Given the description of an element on the screen output the (x, y) to click on. 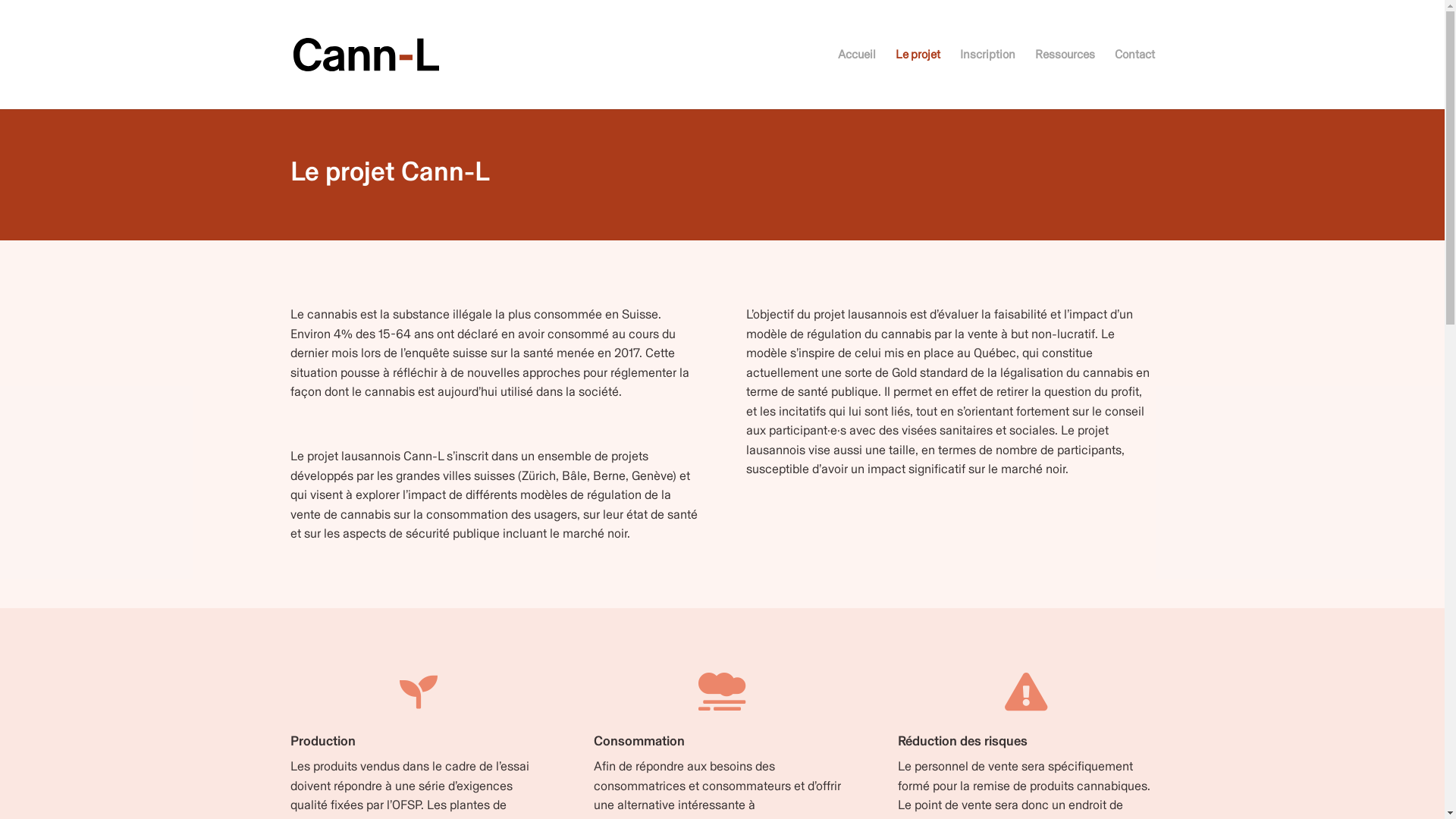
Accueil Element type: text (856, 79)
Inscription Element type: text (987, 79)
Contact Element type: text (1134, 79)
Ressources Element type: text (1064, 79)
Le projet Element type: text (916, 79)
